Given the description of an element on the screen output the (x, y) to click on. 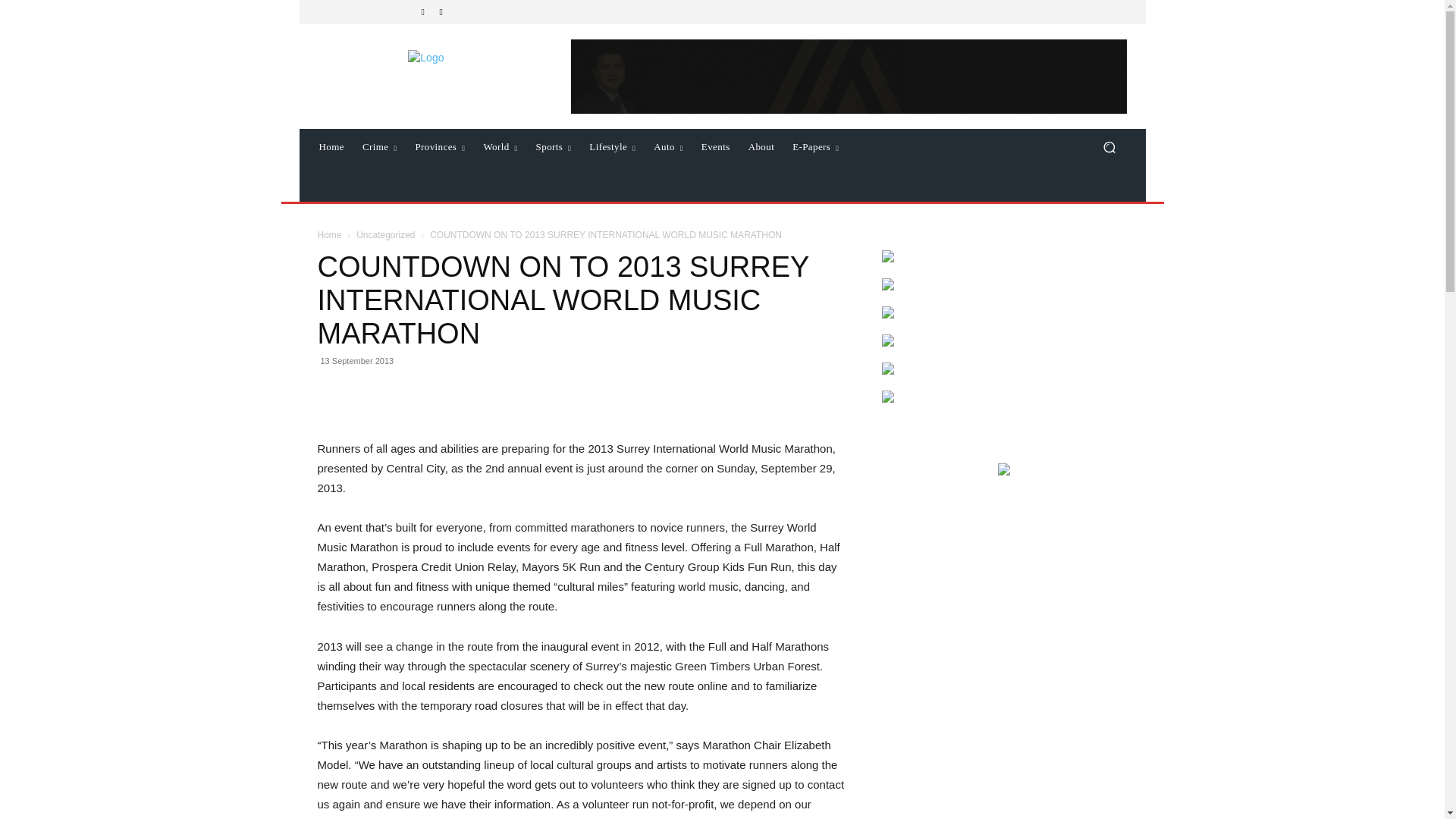
Home (330, 146)
Twitter (440, 12)
Crime (379, 146)
Facebook (422, 12)
